Given the description of an element on the screen output the (x, y) to click on. 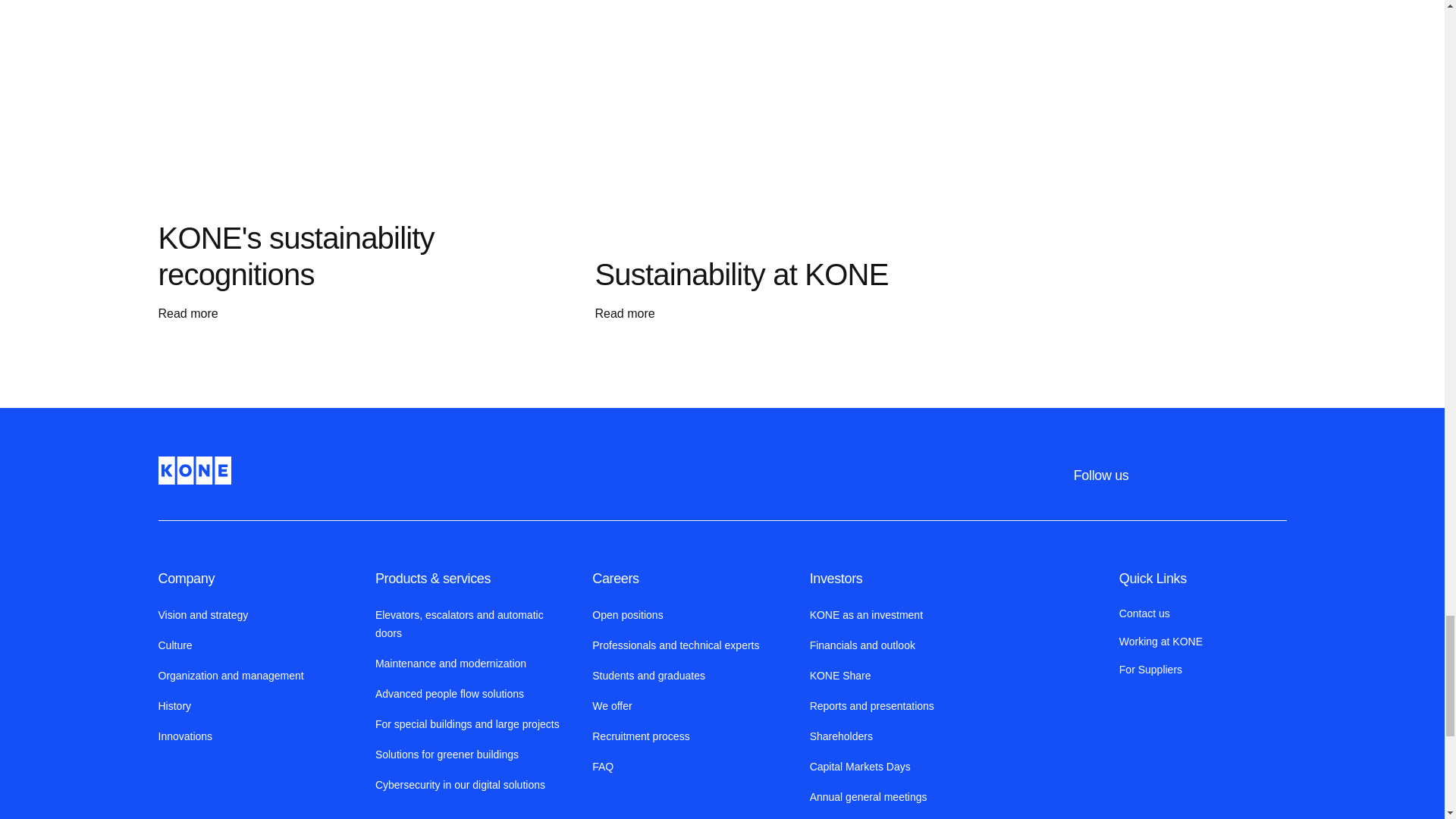
KONE (193, 470)
